Given the description of an element on the screen output the (x, y) to click on. 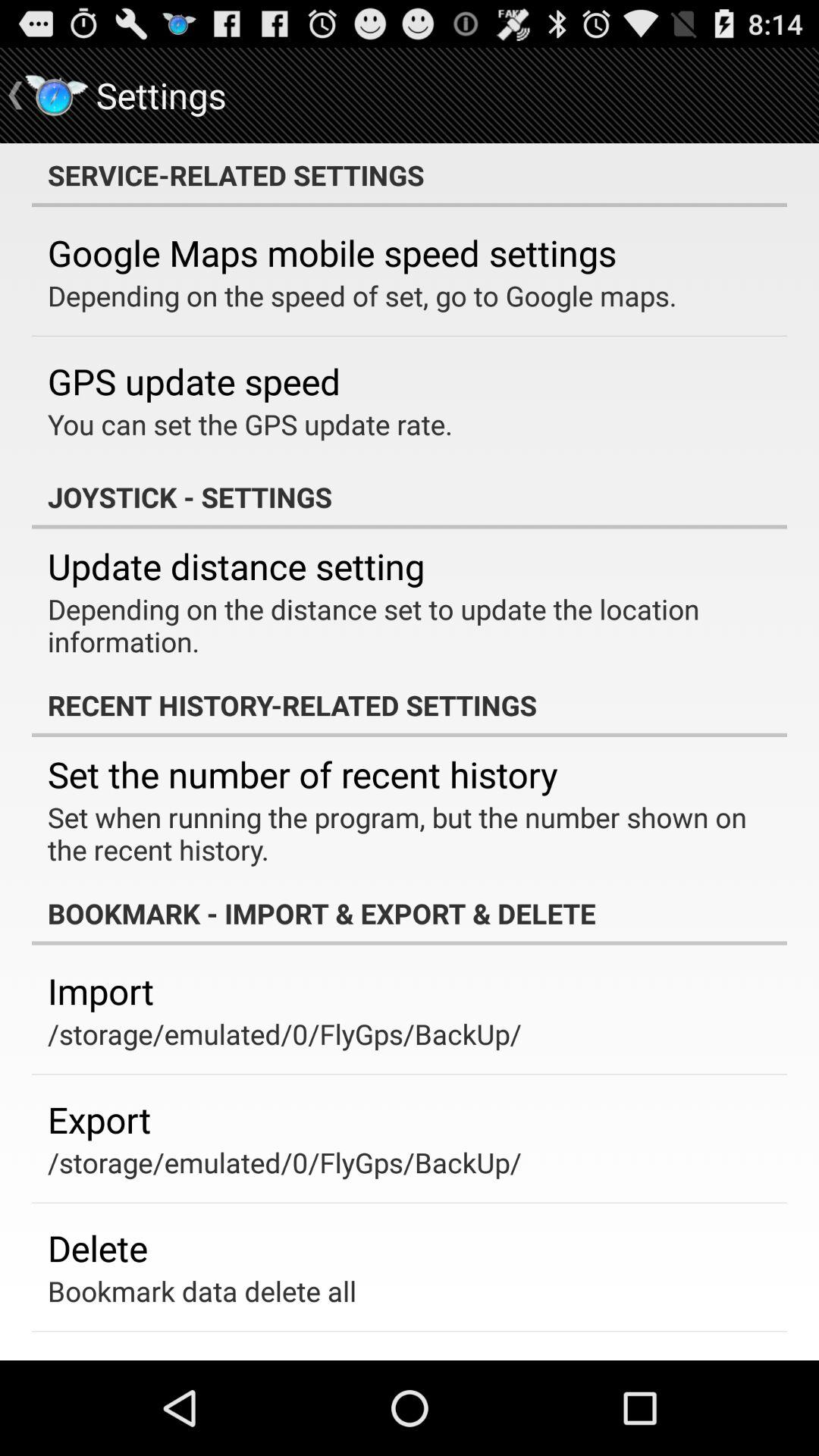
choose you can set item (249, 424)
